Given the description of an element on the screen output the (x, y) to click on. 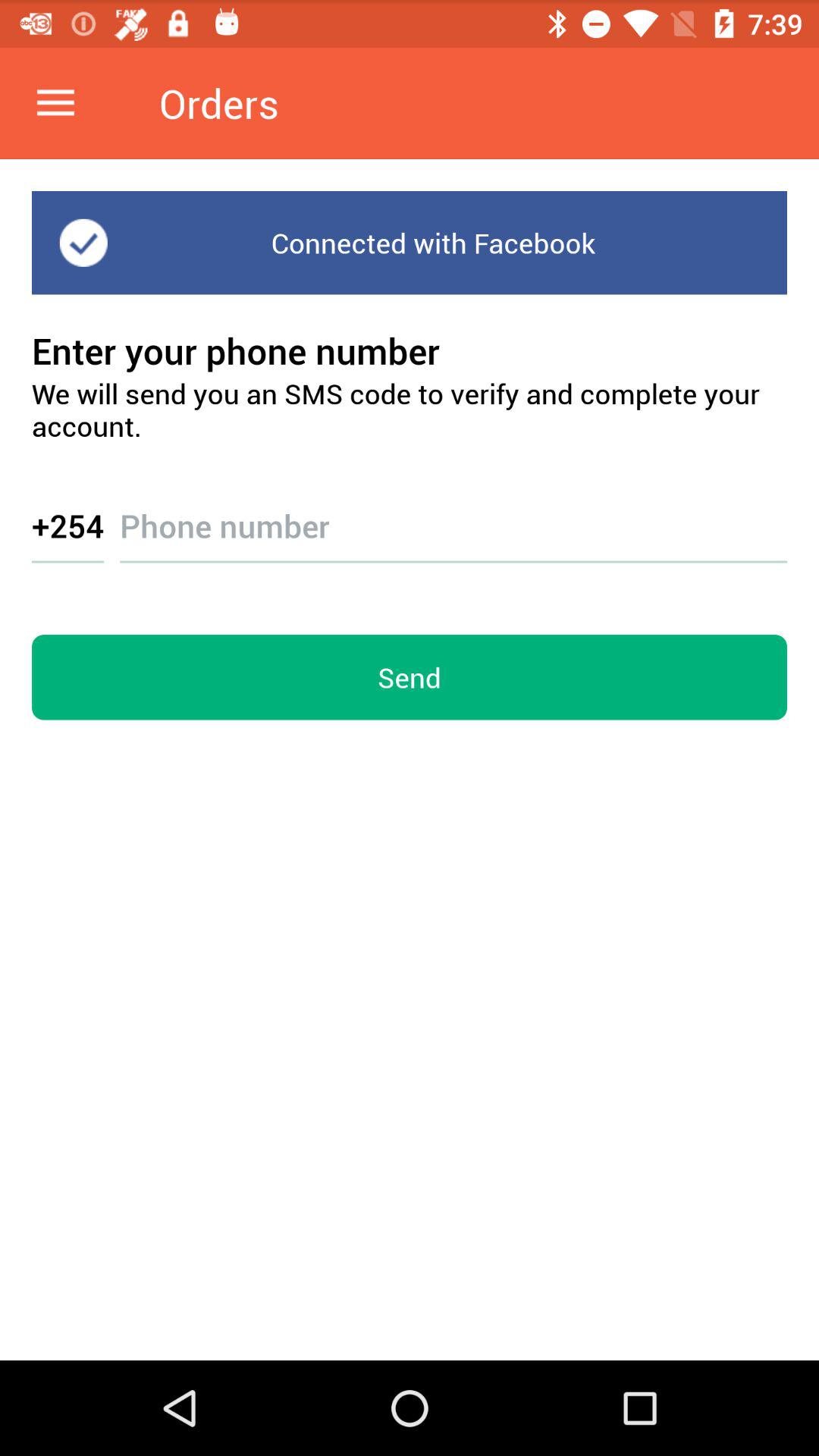
launch the icon below we will send (67, 525)
